Given the description of an element on the screen output the (x, y) to click on. 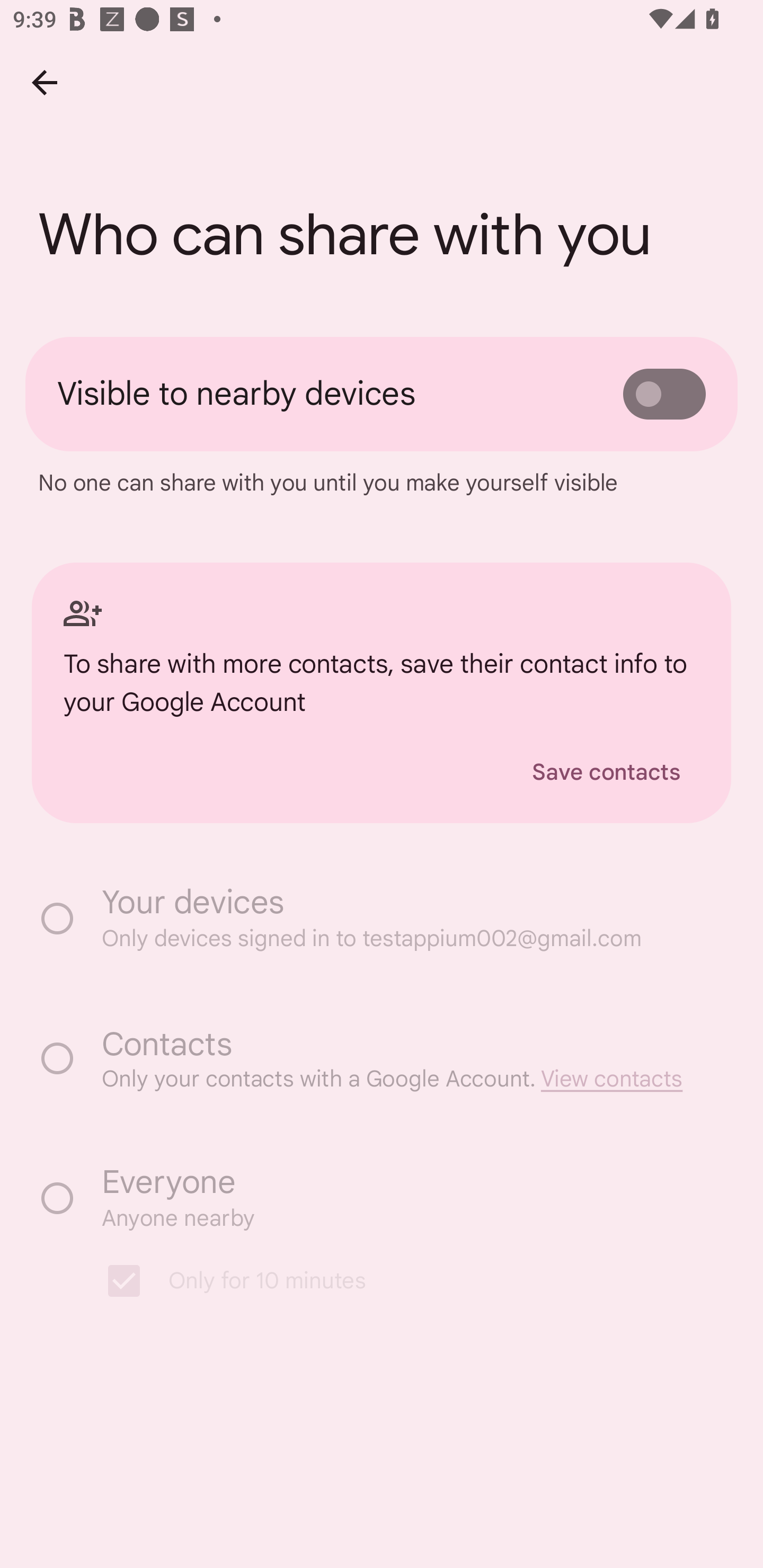
Back (44, 81)
Visible to nearby devices (381, 394)
Save contacts (605, 771)
Everyone Anyone nearby Only for 10 minutes (381, 1239)
Only for 10 minutes (390, 1280)
